Given the description of an element on the screen output the (x, y) to click on. 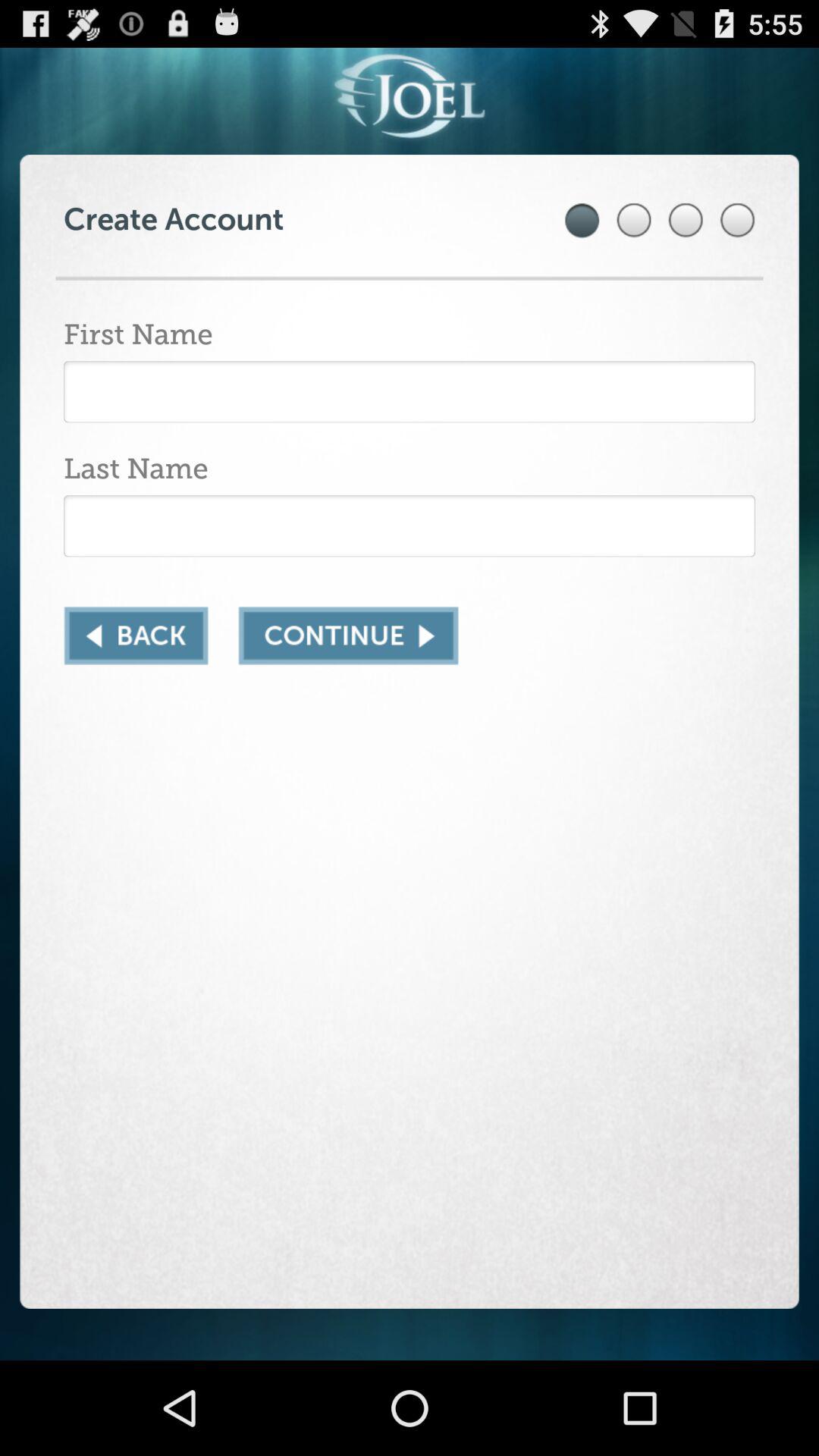
continue (348, 635)
